Given the description of an element on the screen output the (x, y) to click on. 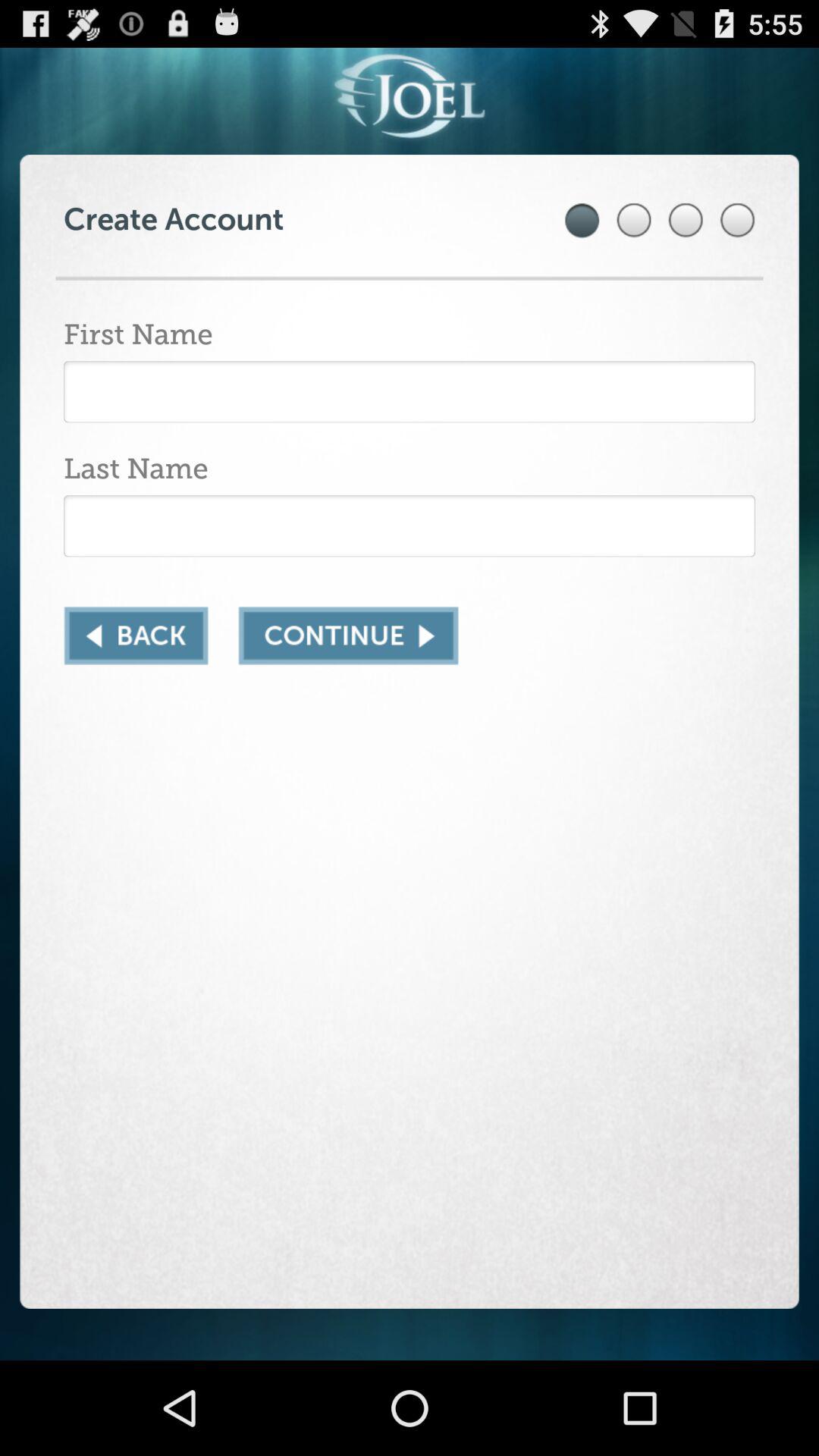
continue (348, 635)
